Given the description of an element on the screen output the (x, y) to click on. 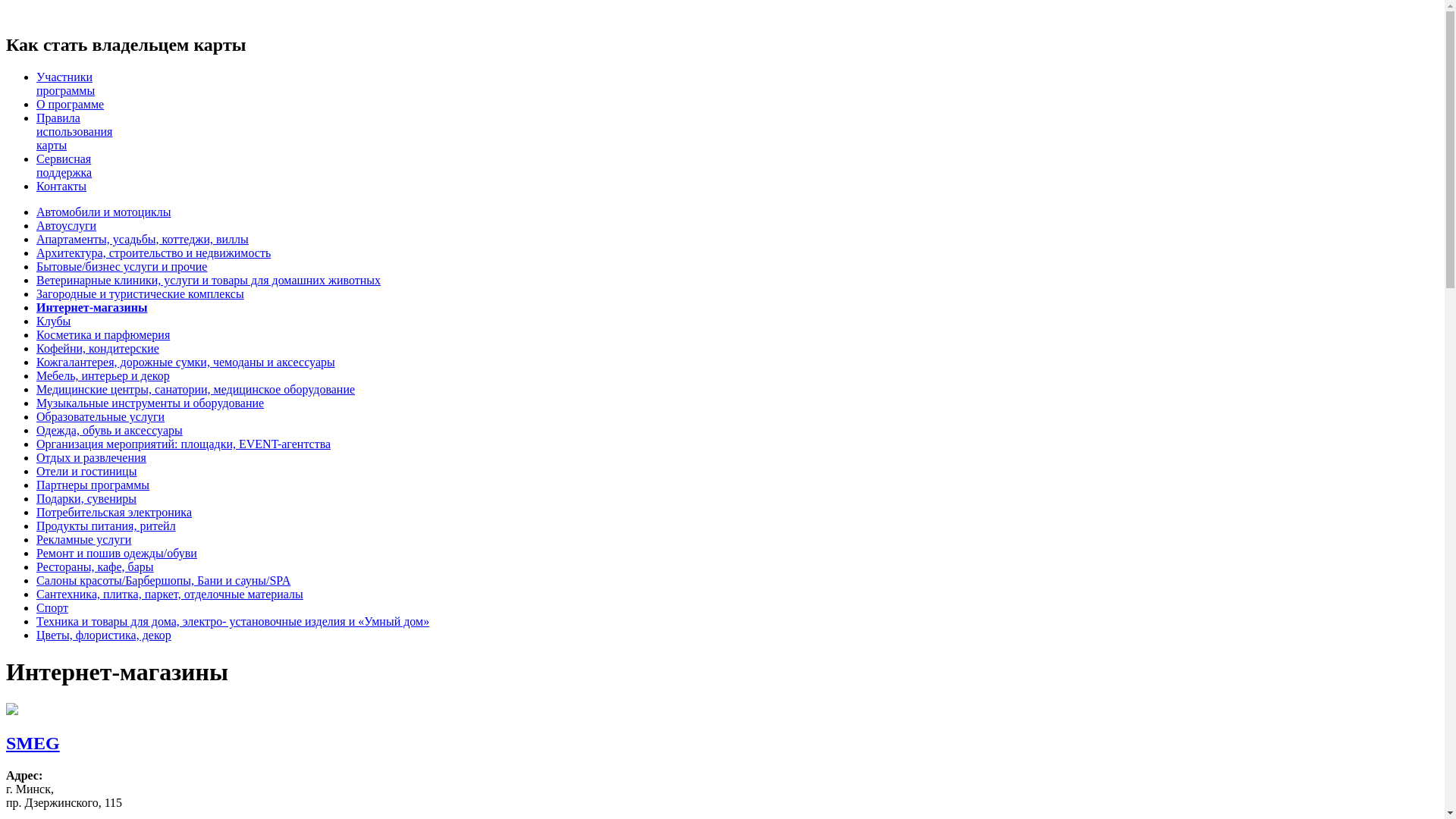
SMEG Element type: text (32, 743)
